Given the description of an element on the screen output the (x, y) to click on. 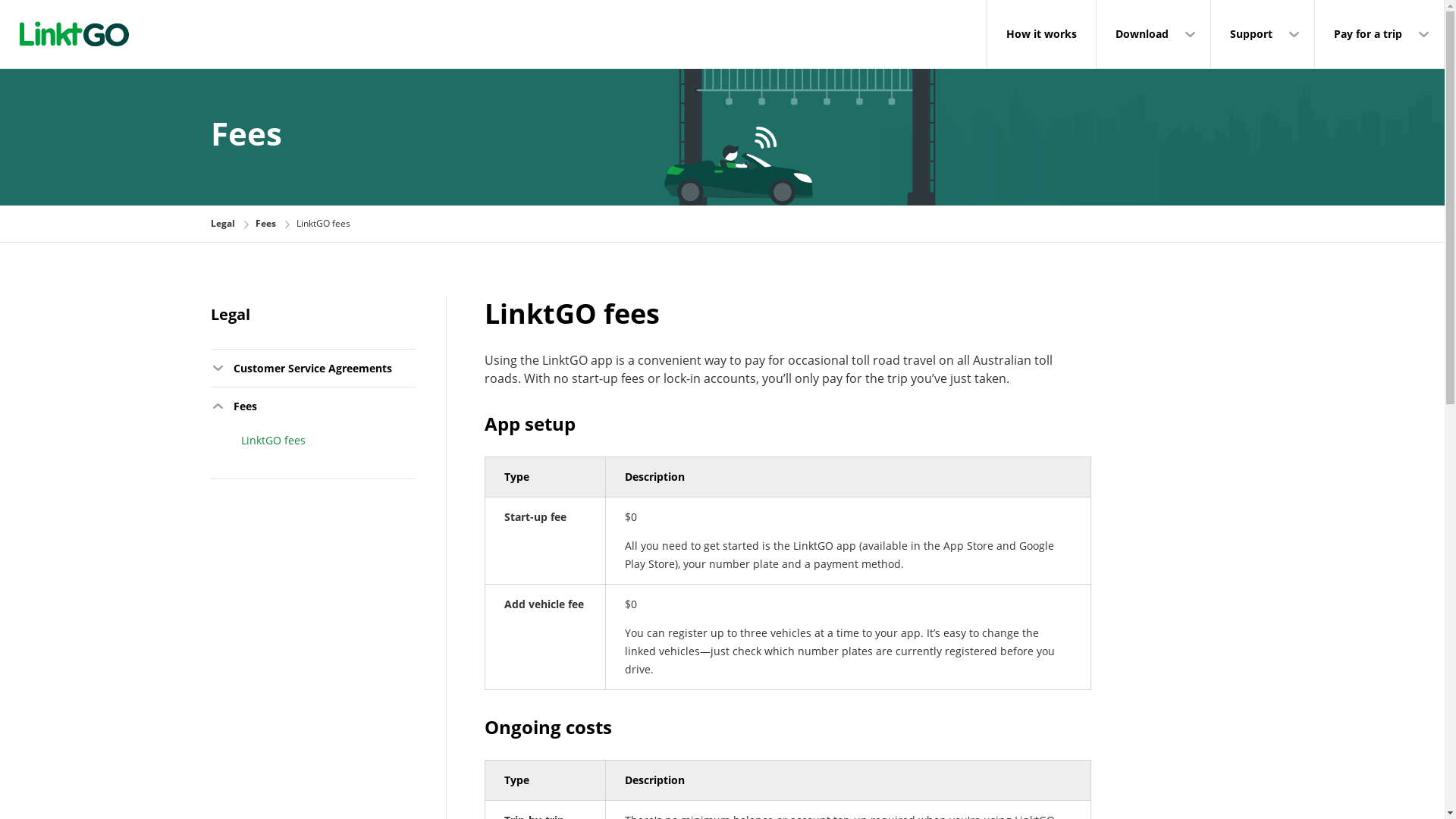
Legal Element type: text (222, 222)
Fees Element type: text (264, 222)
Fees Element type: text (312, 405)
How it works Element type: text (1041, 34)
LinktGO fees Element type: text (320, 443)
Pay for a trip Element type: text (1378, 34)
Support Element type: text (1262, 34)
Legal Element type: text (230, 314)
Download Element type: text (1153, 34)
Customer Service Agreements Element type: text (312, 367)
